Given the description of an element on the screen output the (x, y) to click on. 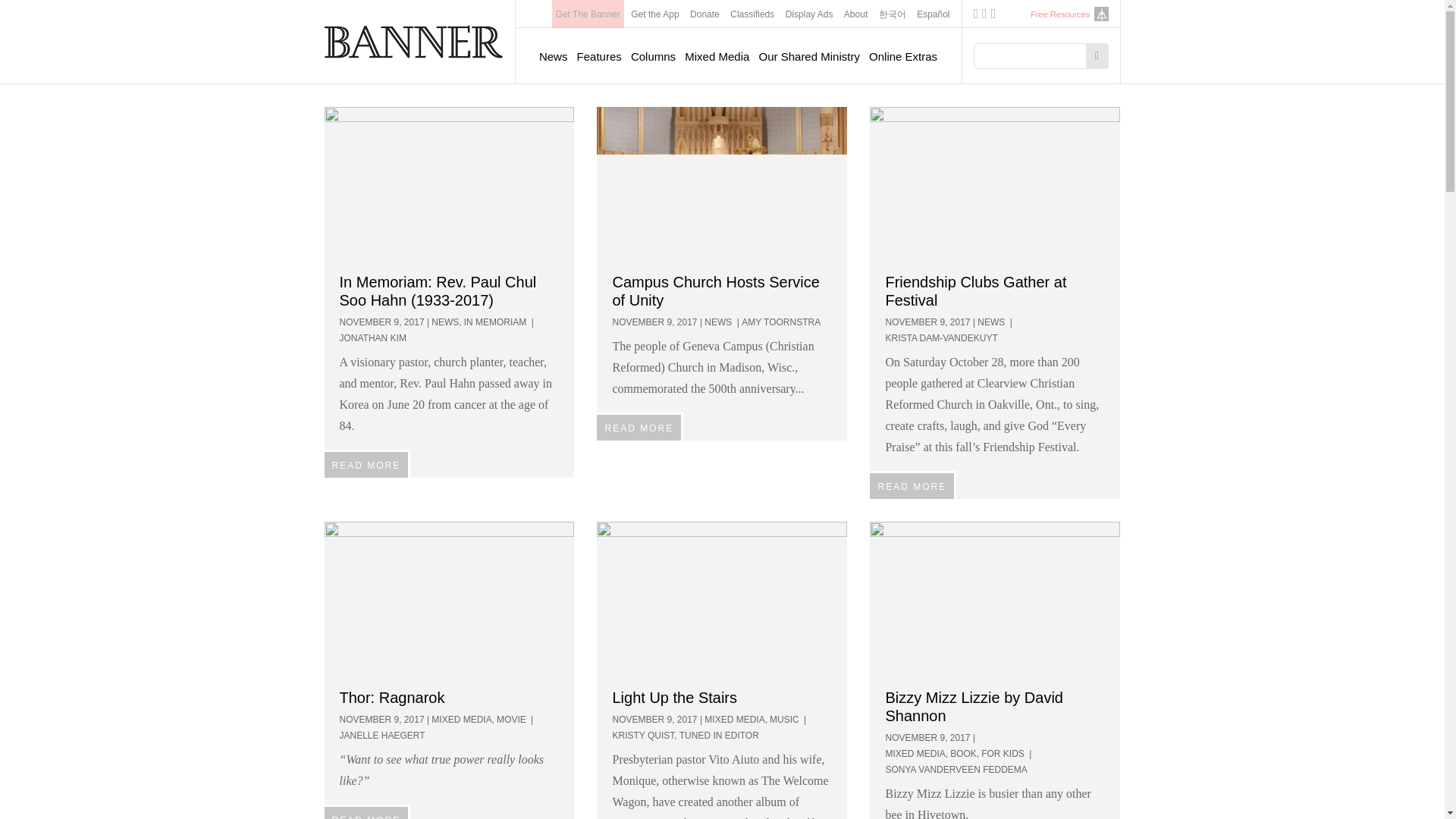
Home (413, 41)
Features (598, 56)
Campus Church Hosts Service of Unity (714, 290)
IMAGE: (721, 184)
crcna.org (1100, 13)
JONATHAN KIM (372, 337)
Enter the terms you wish to search for. (1035, 55)
Free Resources (1059, 13)
NEWS, (445, 321)
Display Ads (809, 14)
